Given the description of an element on the screen output the (x, y) to click on. 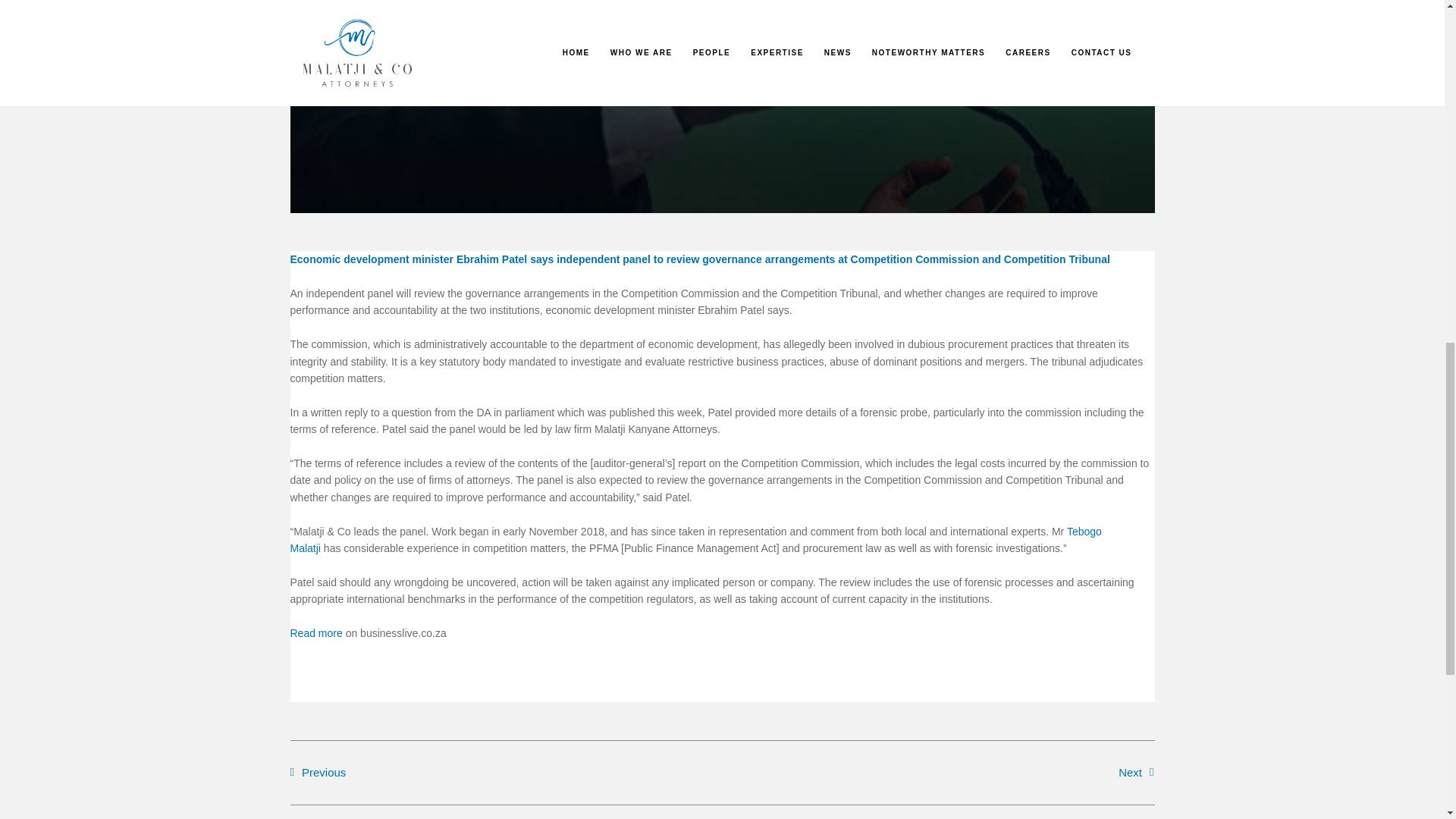
Read more (315, 633)
Previous (505, 772)
Tebogo Malatji (694, 538)
Next (938, 772)
